Given the description of an element on the screen output the (x, y) to click on. 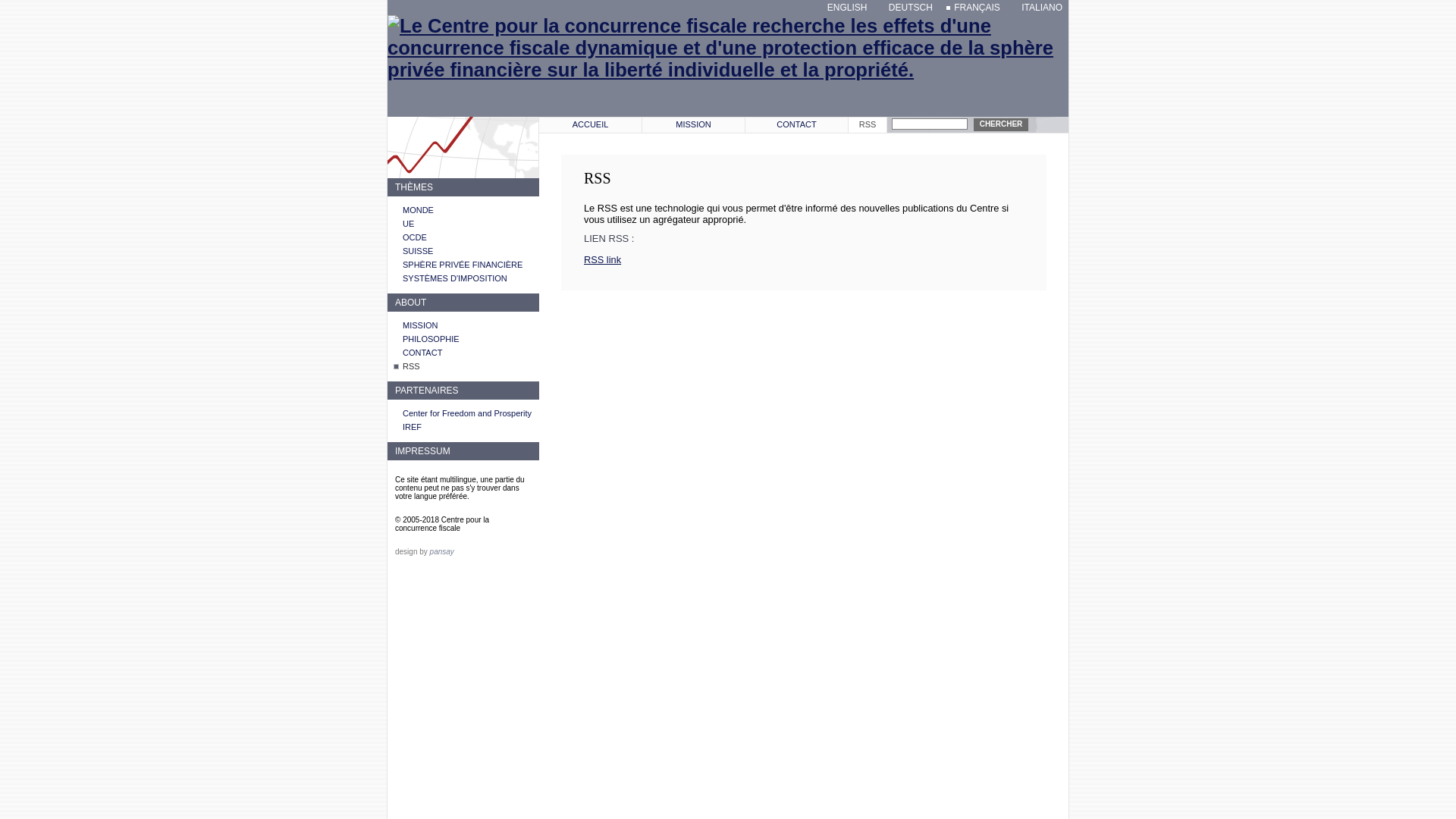
MISSION Element type: text (419, 324)
chercher Element type: text (1000, 124)
ITALIANO Element type: text (1037, 7)
ACCUEIL Element type: text (590, 124)
PHILOSOPHIE Element type: text (430, 338)
ENGLISH Element type: text (843, 7)
MONDE Element type: text (417, 209)
Center for Freedom and Prosperity Element type: text (466, 412)
RSS link Element type: text (602, 259)
IREF Element type: text (411, 426)
CONTACT Element type: text (422, 352)
OCDE Element type: text (414, 236)
pansay Element type: text (441, 551)
UE Element type: text (408, 223)
SUISSE Element type: text (417, 250)
CONTACT Element type: text (796, 124)
DEUTSCH Element type: text (906, 7)
MISSION Element type: text (693, 124)
